Given the description of an element on the screen output the (x, y) to click on. 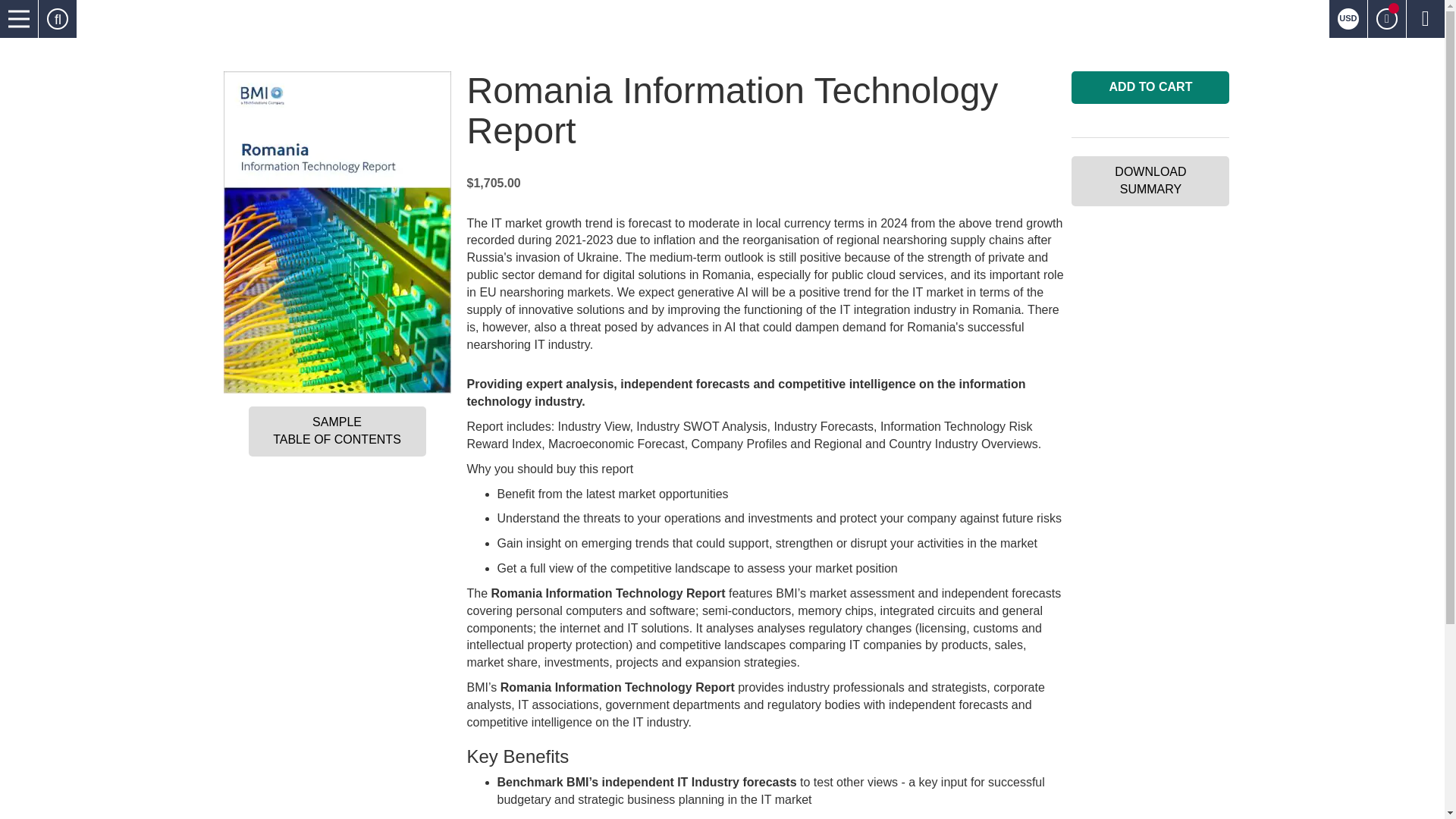
Add to Cart (1149, 87)
